Given the description of an element on the screen output the (x, y) to click on. 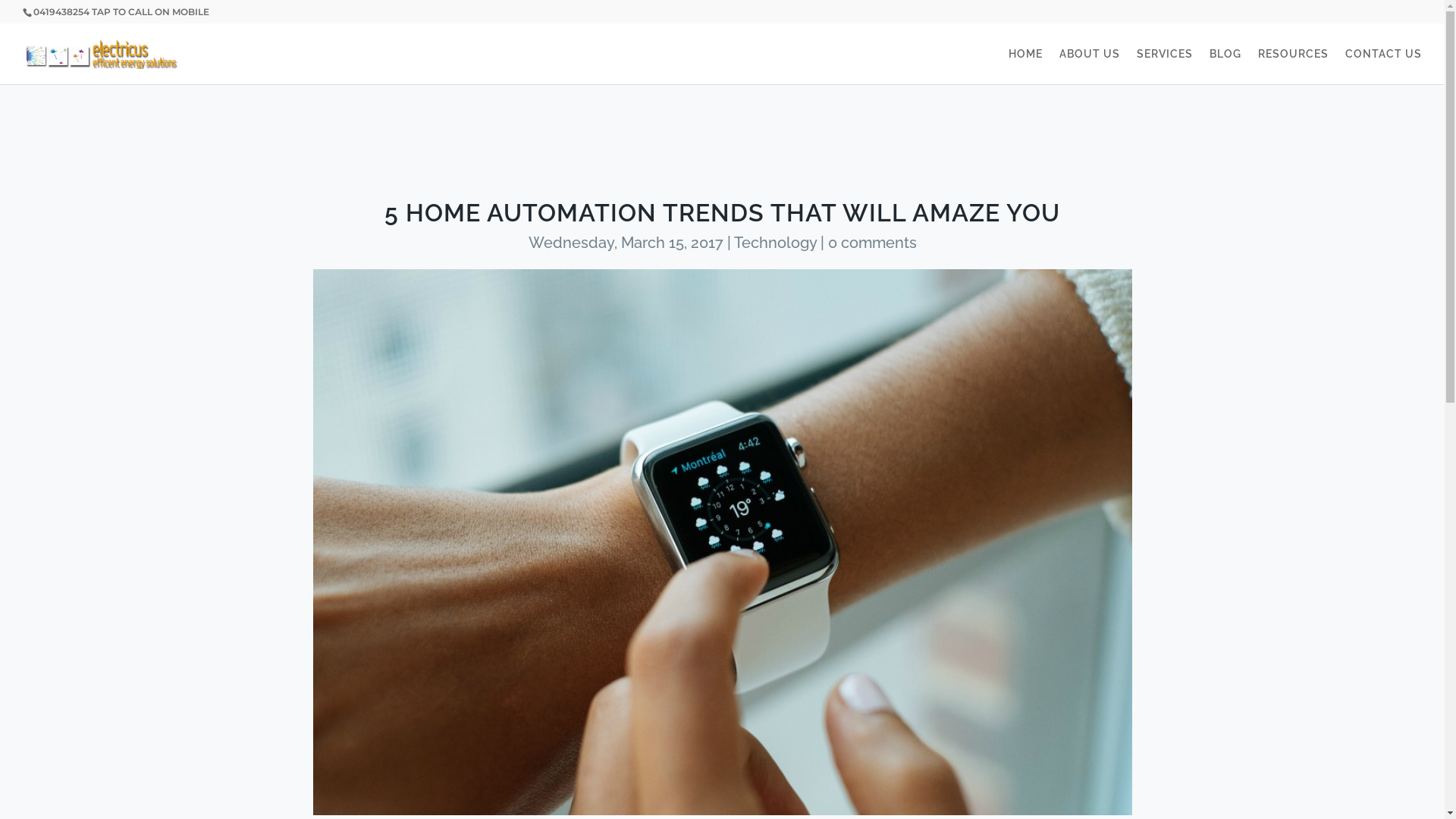
CONTACT US Element type: text (1383, 66)
ABOUT US Element type: text (1089, 66)
0419438254 TAP TO CALL ON MOBILE Element type: text (121, 11)
HOME Element type: text (1025, 66)
RESOURCES Element type: text (1293, 66)
SERVICES Element type: text (1164, 66)
Technology Element type: text (775, 242)
BLOG Element type: text (1225, 66)
0 comments Element type: text (872, 242)
